Given the description of an element on the screen output the (x, y) to click on. 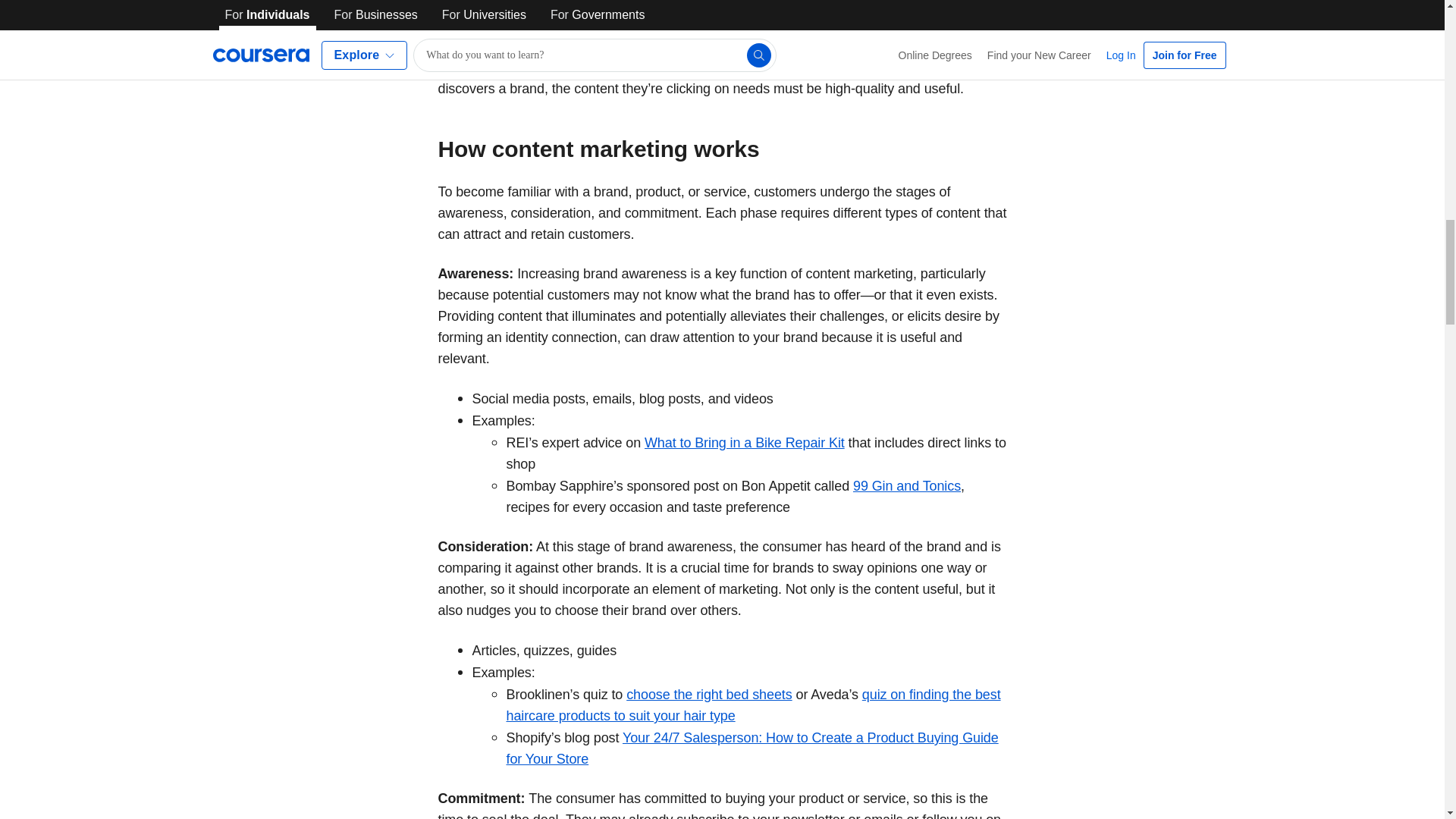
99 Gin and Tonics (906, 485)
What to Bring in a Bike Repair Kit (744, 442)
choose the right bed sheets (709, 694)
